Given the description of an element on the screen output the (x, y) to click on. 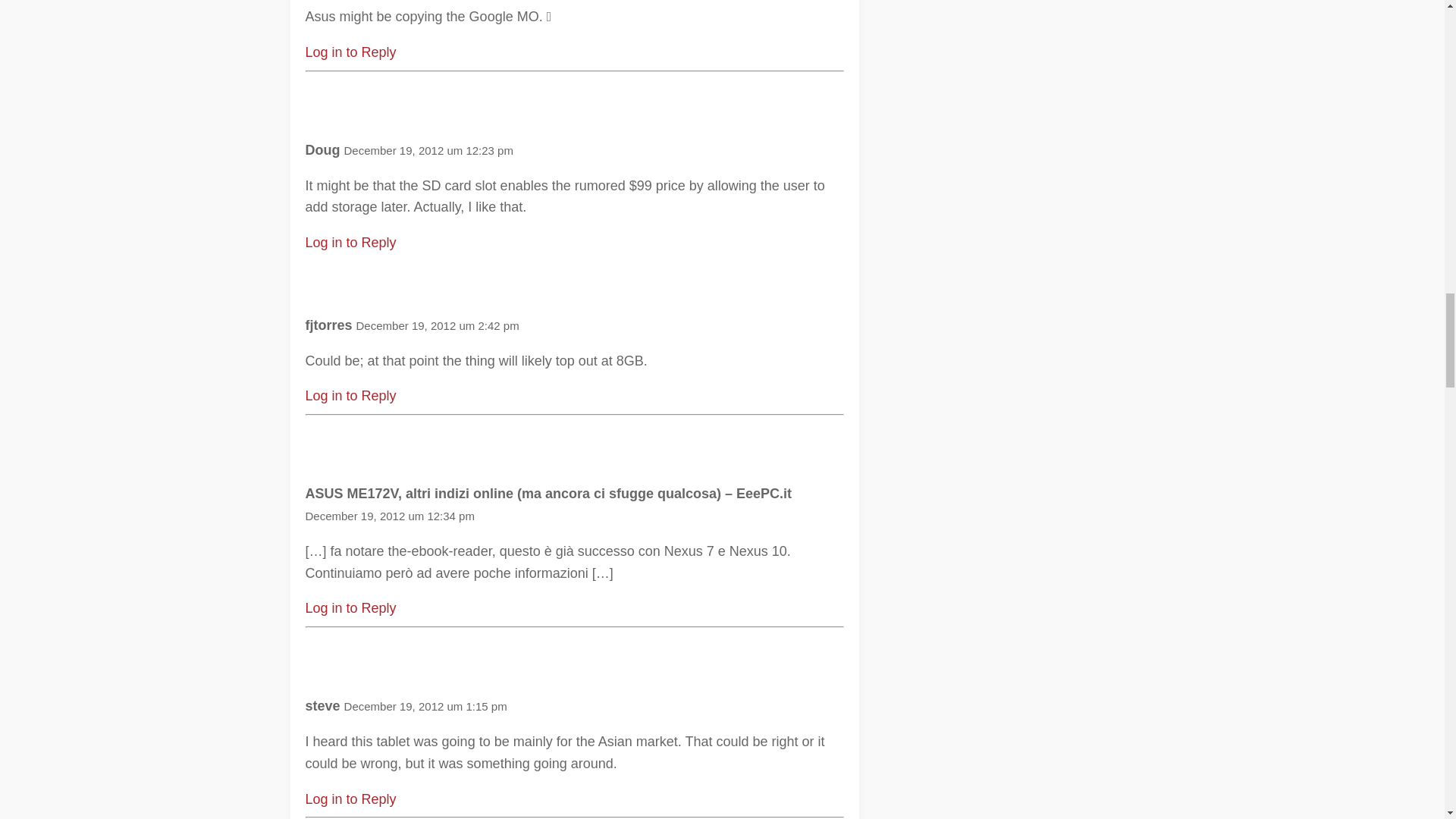
Log in to Reply (350, 607)
Log in to Reply (350, 52)
Log in to Reply (350, 395)
Log in to Reply (350, 798)
Log in to Reply (350, 242)
